Given the description of an element on the screen output the (x, y) to click on. 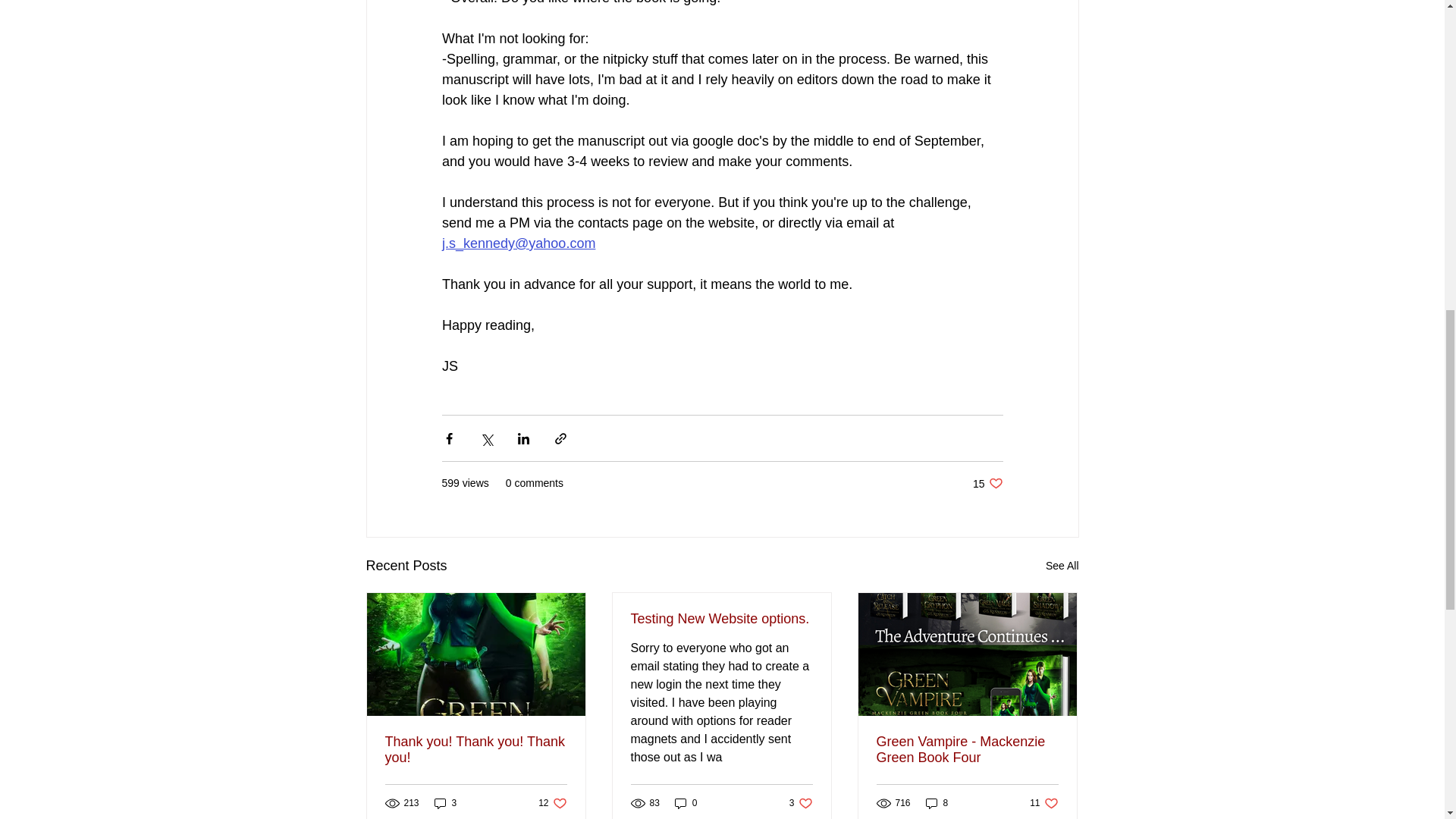
See All (552, 803)
3 (1061, 566)
8 (987, 482)
Testing New Website options. (800, 803)
Thank you! Thank you! Thank you! (445, 803)
0 (937, 803)
